Given the description of an element on the screen output the (x, y) to click on. 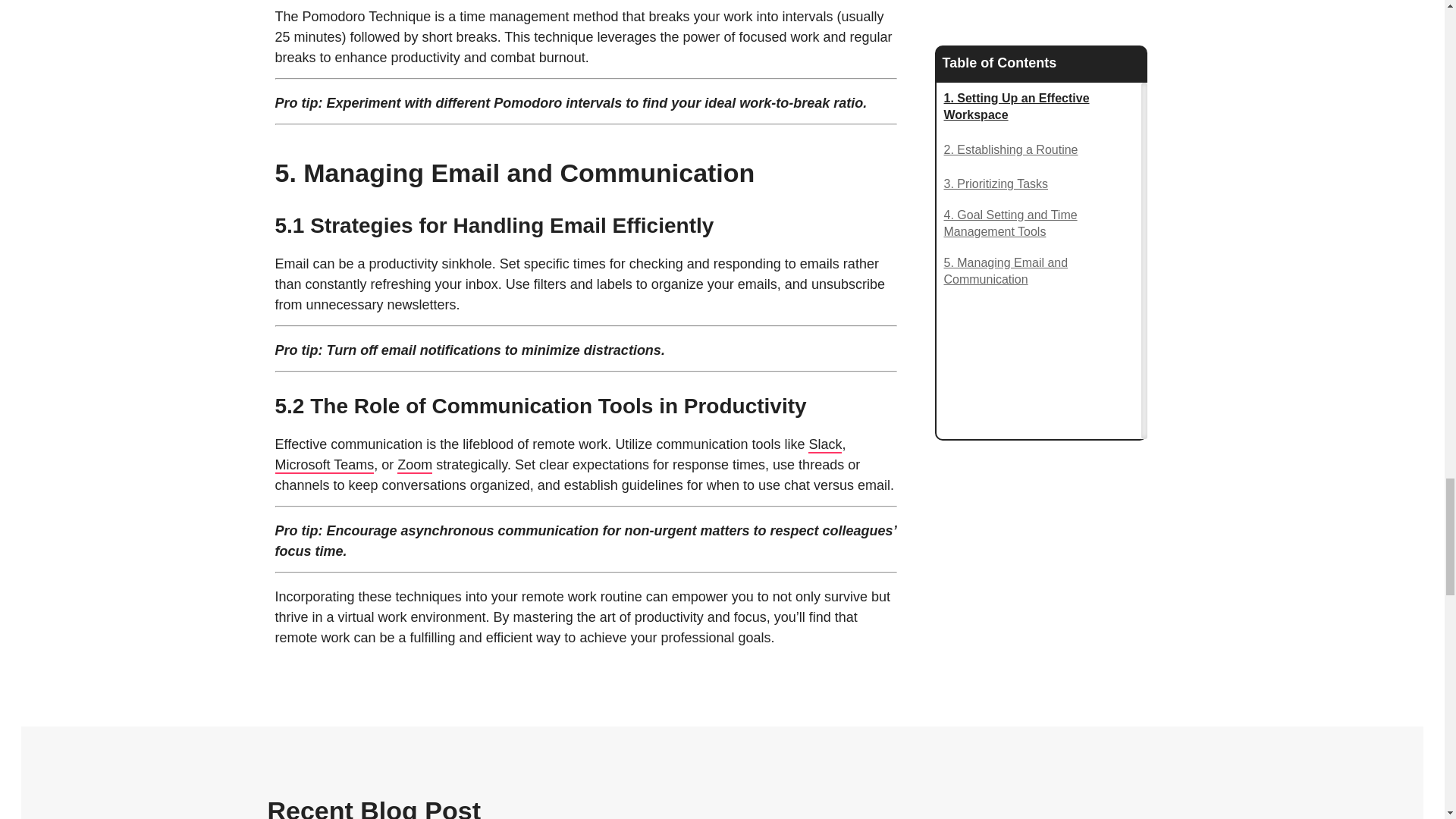
Slack (824, 444)
Microsoft Teams (324, 465)
Zoom (414, 465)
